Given the description of an element on the screen output the (x, y) to click on. 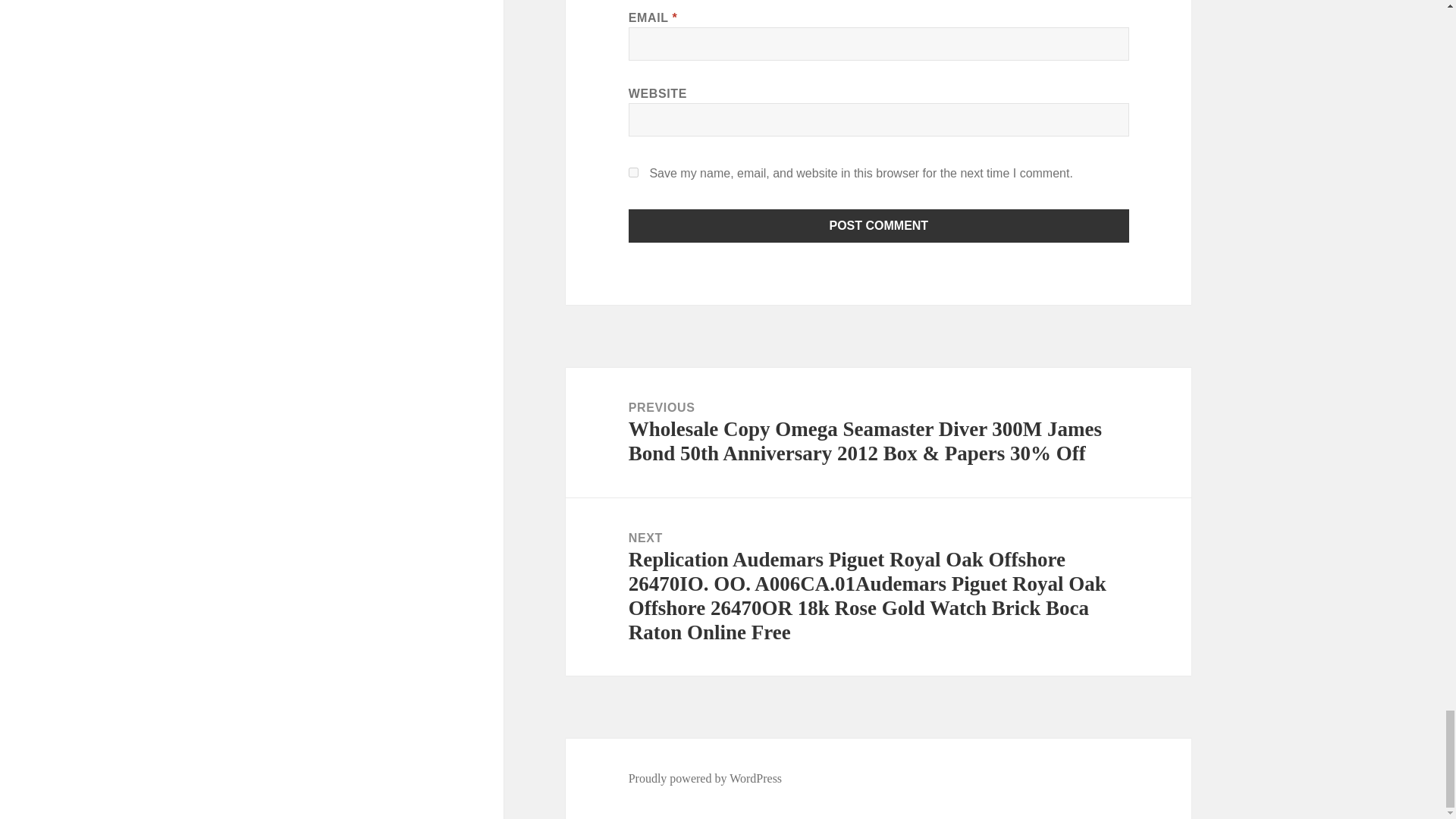
yes (633, 172)
Post Comment (878, 225)
